Given the description of an element on the screen output the (x, y) to click on. 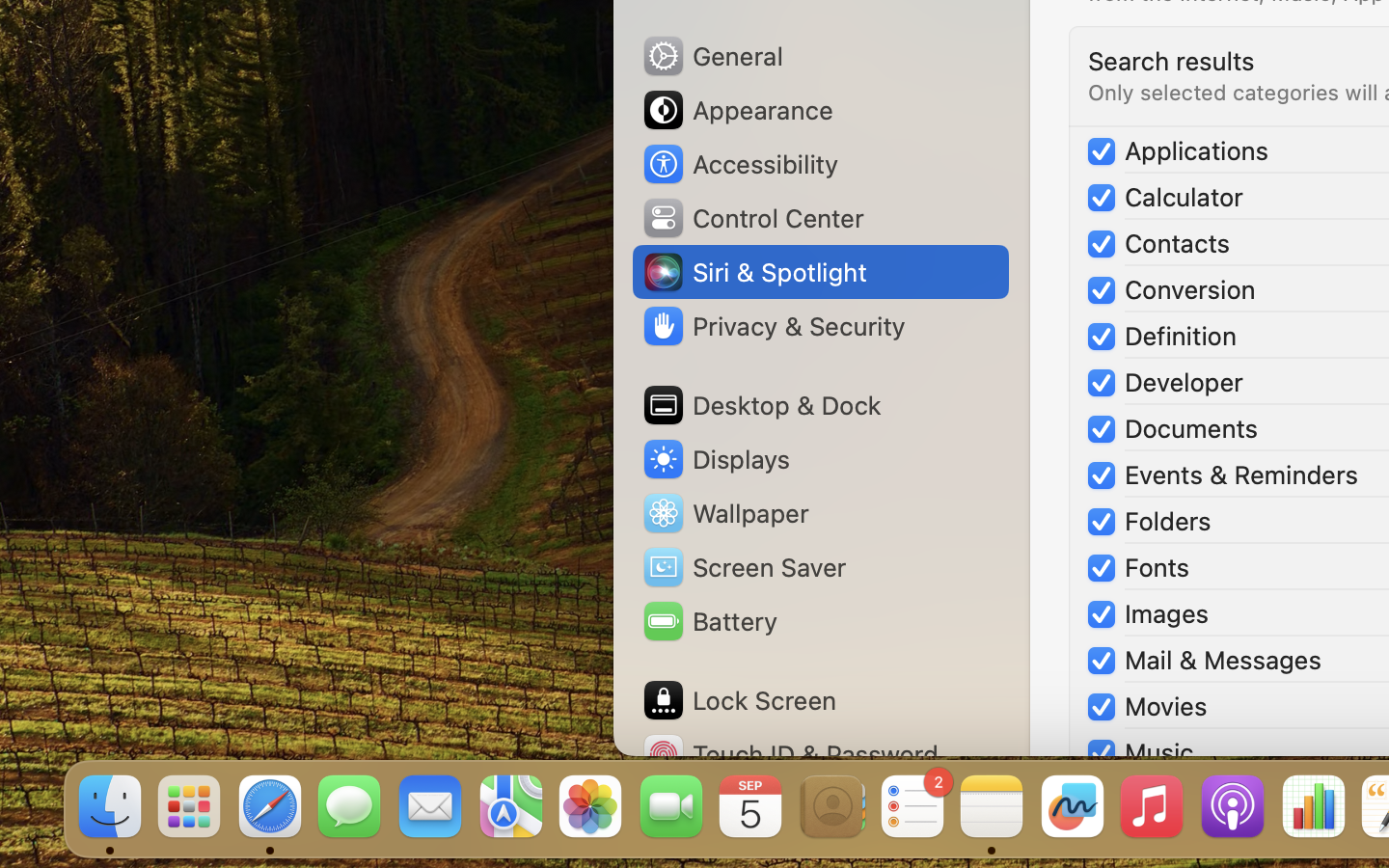
Siri & Spotlight Element type: AXStaticText (753, 271)
Accessibility Element type: AXStaticText (739, 163)
Screen Saver Element type: AXStaticText (743, 566)
General Element type: AXStaticText (711, 55)
Privacy & Security Element type: AXStaticText (772, 325)
